Given the description of an element on the screen output the (x, y) to click on. 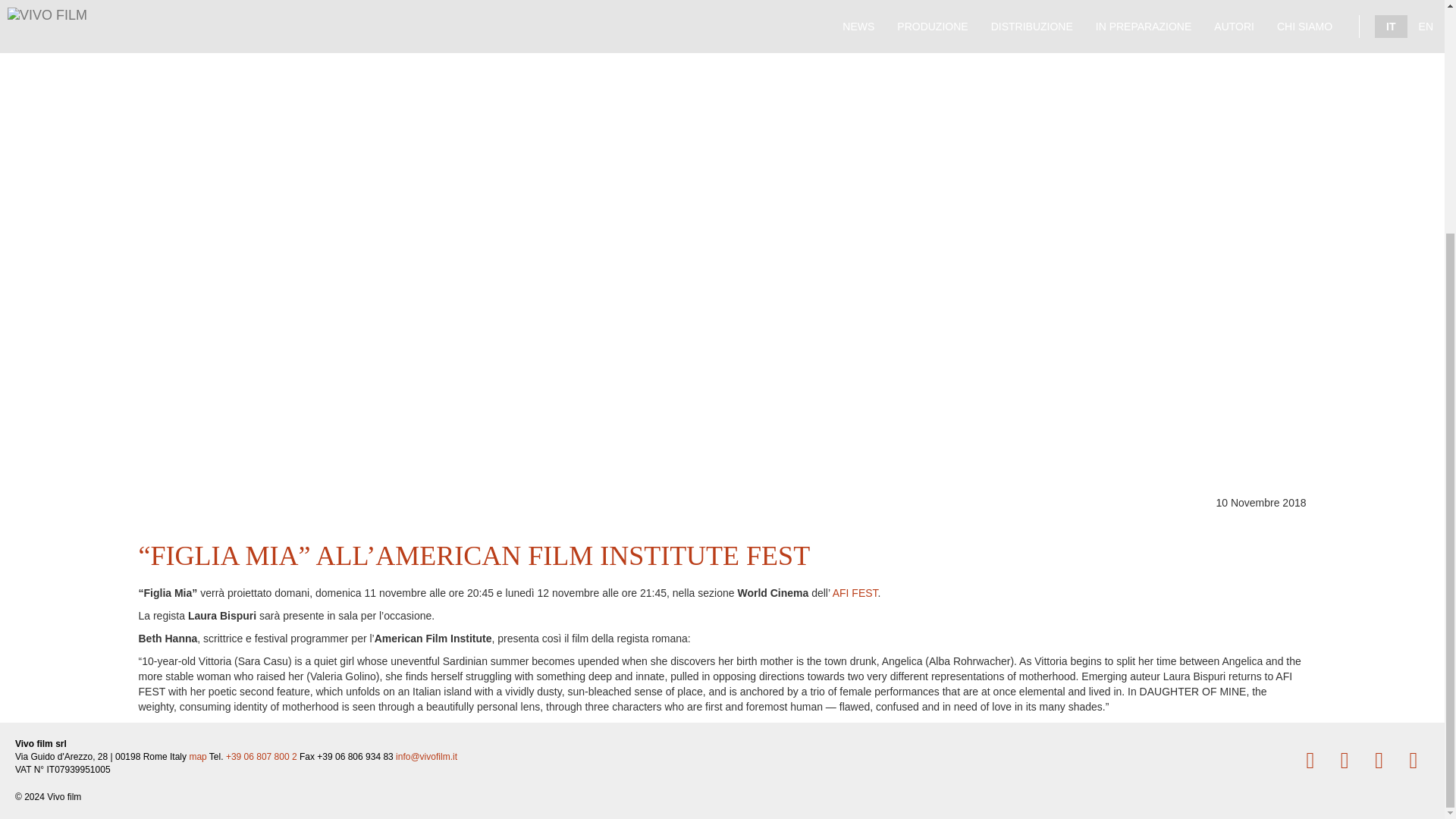
map (197, 756)
Phone (261, 756)
map (197, 756)
Write to Vivo film (426, 756)
AFI FEST (854, 592)
